Given the description of an element on the screen output the (x, y) to click on. 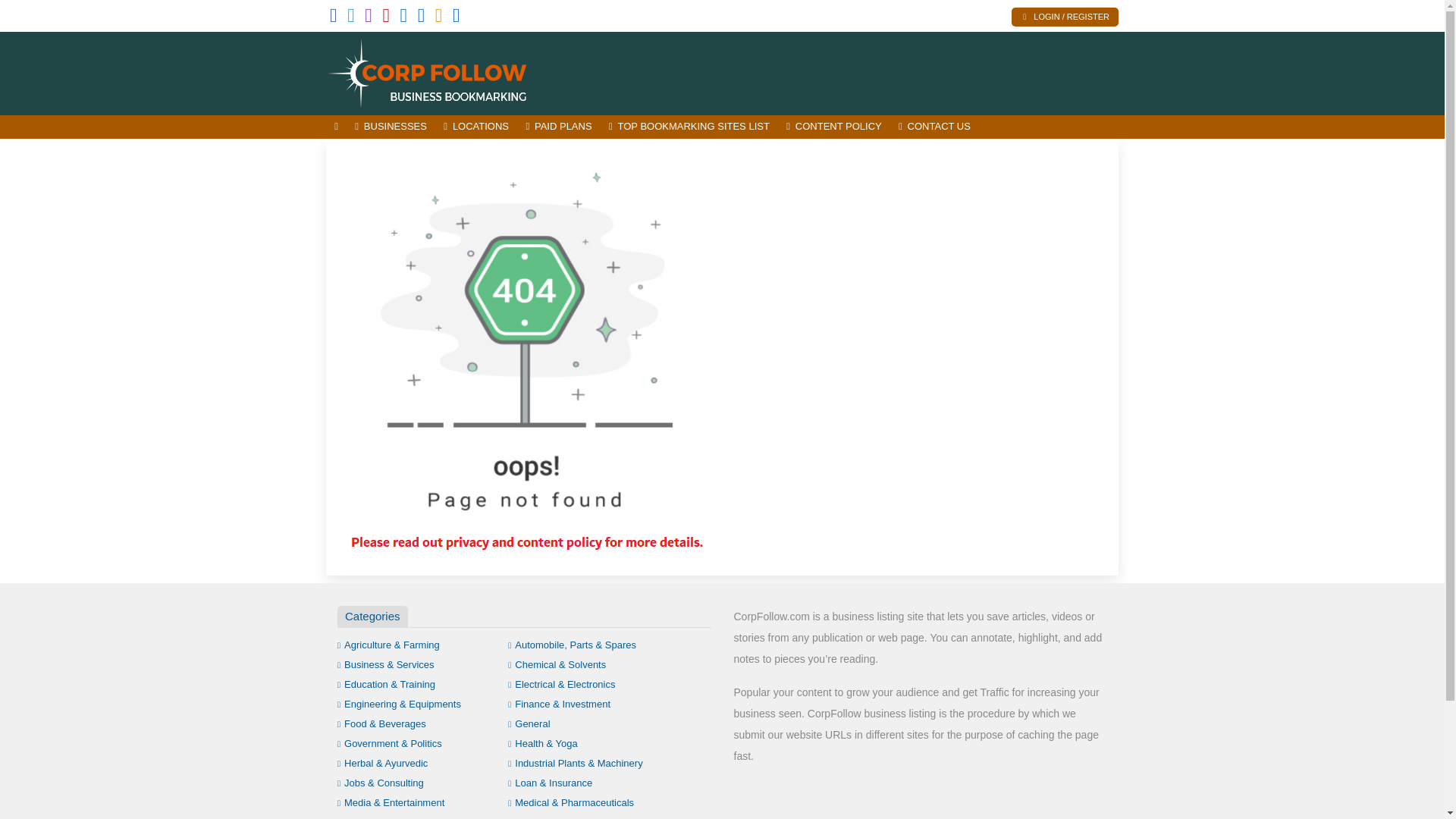
TOP BOOKMARKING SITES LIST (688, 126)
CONTENT POLICY (833, 126)
CONTACT US (933, 126)
General (529, 723)
PAID PLANS (557, 126)
BUSINESSES (390, 126)
LOCATIONS (475, 126)
